Given the description of an element on the screen output the (x, y) to click on. 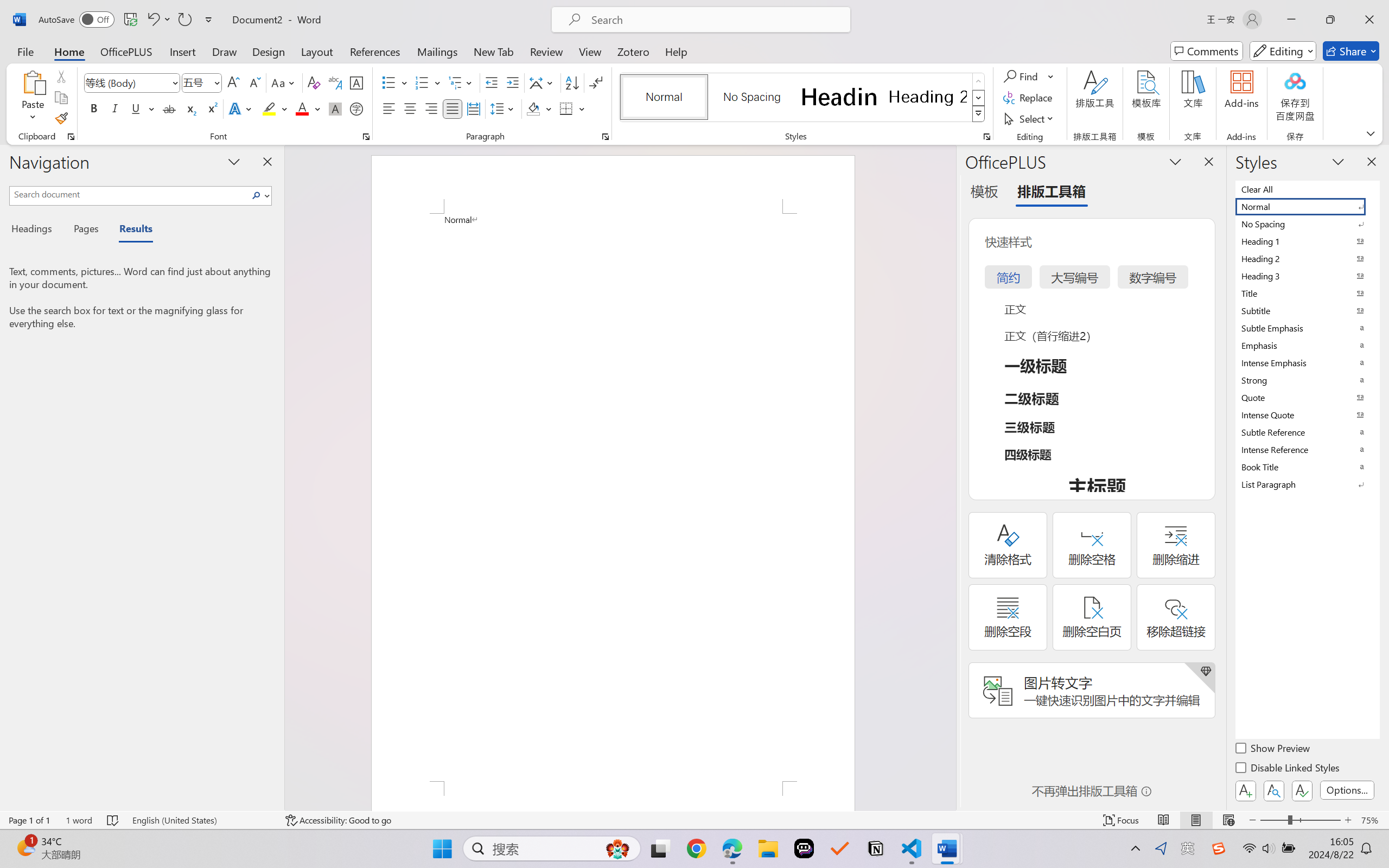
Font Color (308, 108)
Quick Access Toolbar (127, 19)
Page Number Page 1 of 1 (29, 819)
Mailings (437, 51)
Zotero (632, 51)
Text Effects and Typography (241, 108)
Paragraph... (605, 136)
Heading 3 (1306, 275)
Align Left (388, 108)
Repeat Doc Close (184, 19)
OfficePLUS (126, 51)
